Given the description of an element on the screen output the (x, y) to click on. 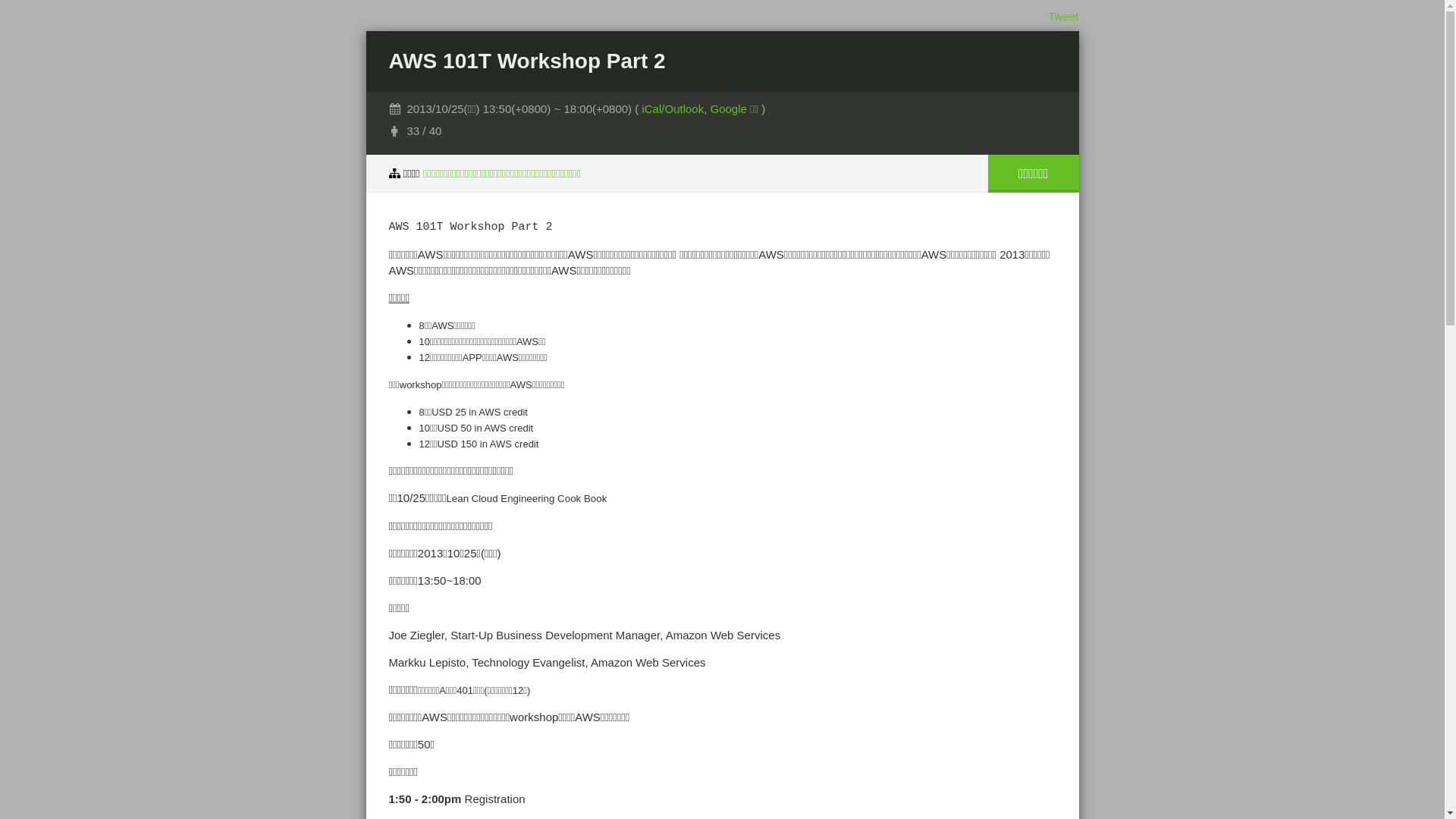
Tweet Element type: text (1063, 15)
iCal/Outlook Element type: text (672, 108)
